Given the description of an element on the screen output the (x, y) to click on. 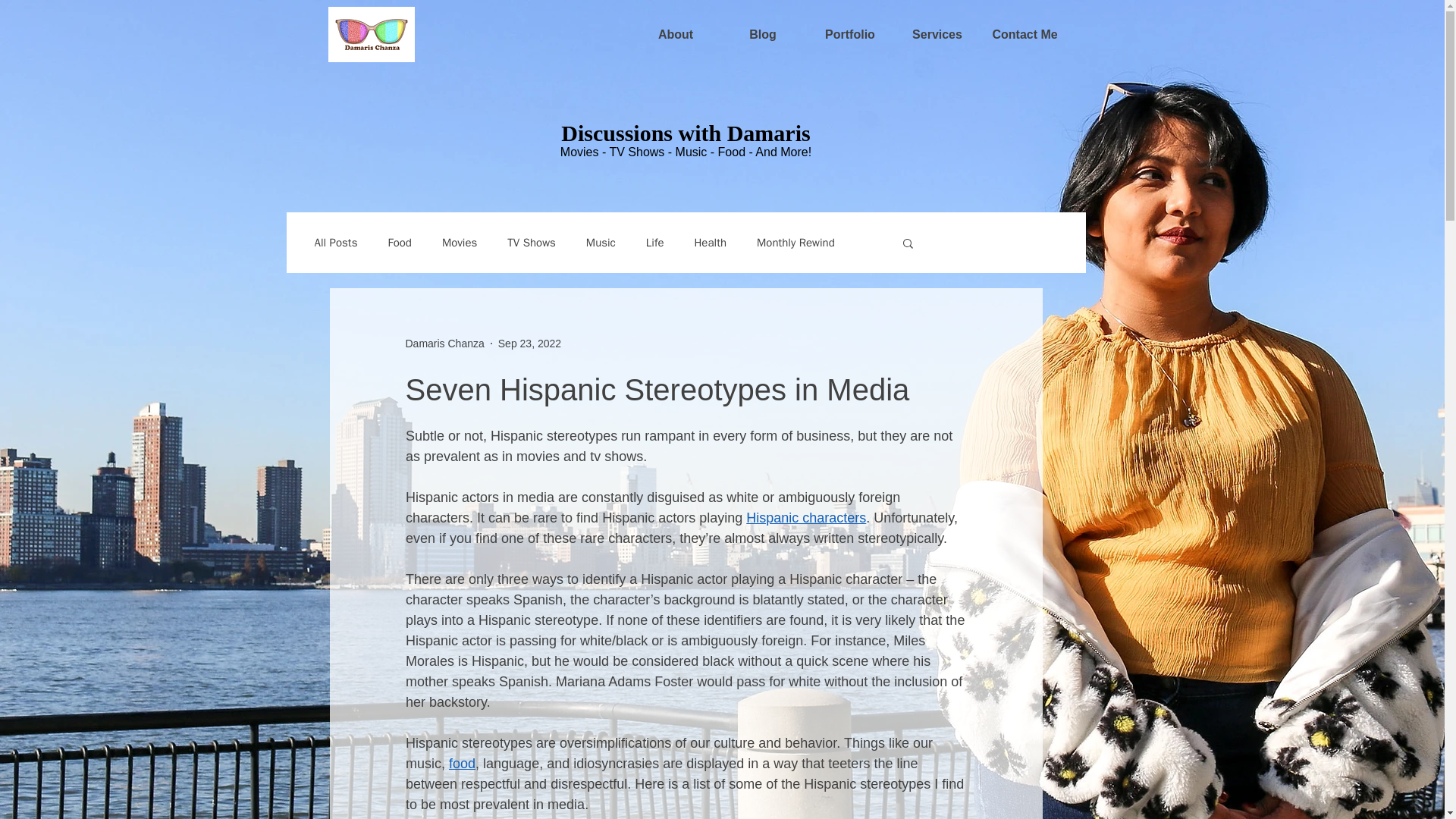
TV Shows (531, 242)
Movies (459, 242)
Health (710, 242)
Damaris Chanza Media Logo (370, 34)
Blog (762, 34)
About (675, 34)
Food (398, 242)
Monthly Rewind (795, 242)
Damaris Chanza (443, 343)
Music (600, 242)
Hispanic characters (805, 517)
All Posts (335, 242)
Life (654, 242)
Sep 23, 2022 (528, 343)
Contact Me (1024, 34)
